Given the description of an element on the screen output the (x, y) to click on. 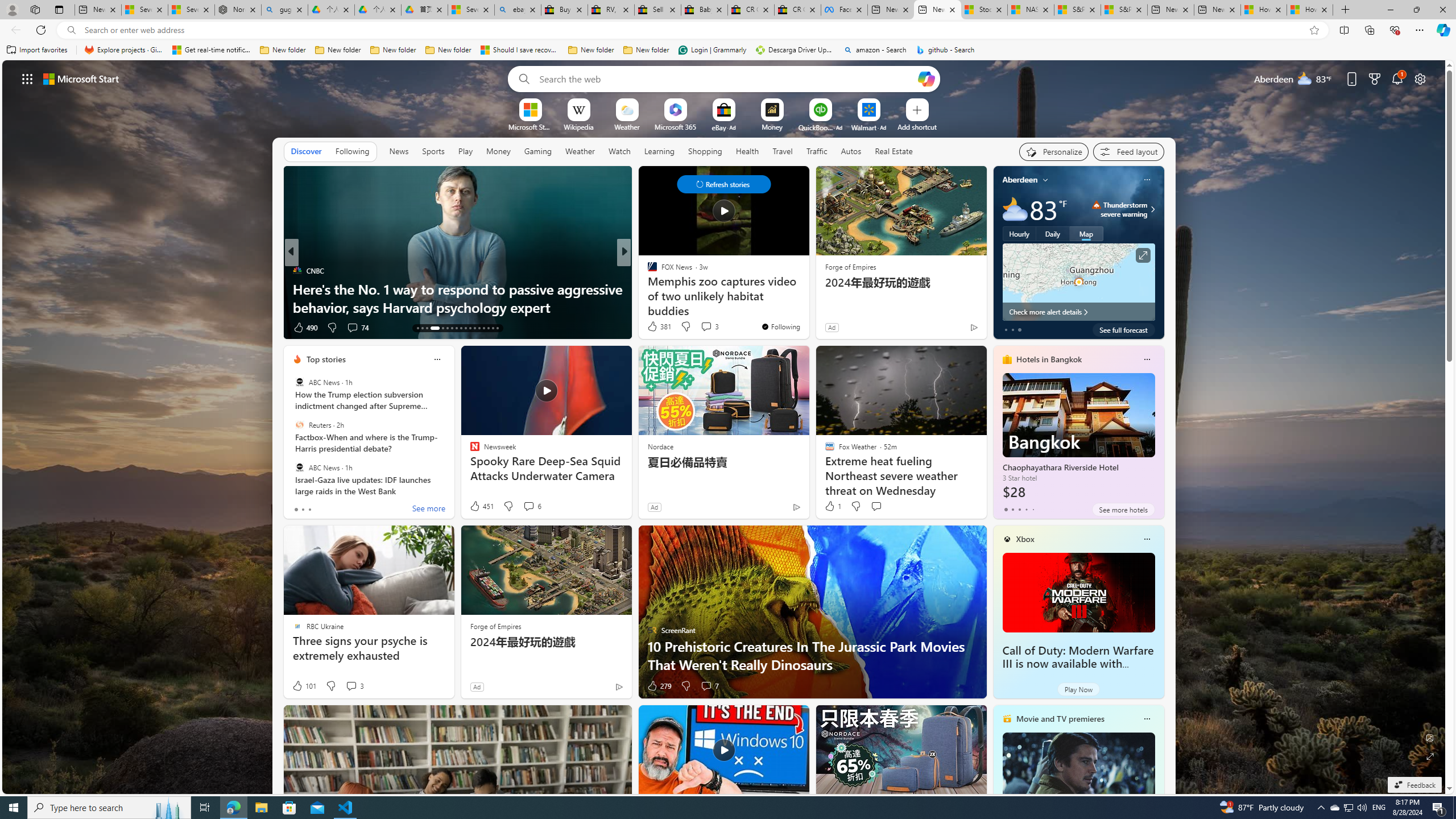
Import favorites (36, 49)
Thunderstorm - Severe (1097, 204)
43 Like (652, 327)
Spotlight Feature (296, 270)
Traffic (816, 151)
Learning (658, 151)
Time (647, 270)
AutomationID: tab-28 (492, 328)
Forgiveness Is a Journey to Emotional Freedom (807, 307)
Money (498, 151)
Descarga Driver Updater (794, 49)
